Given the description of an element on the screen output the (x, y) to click on. 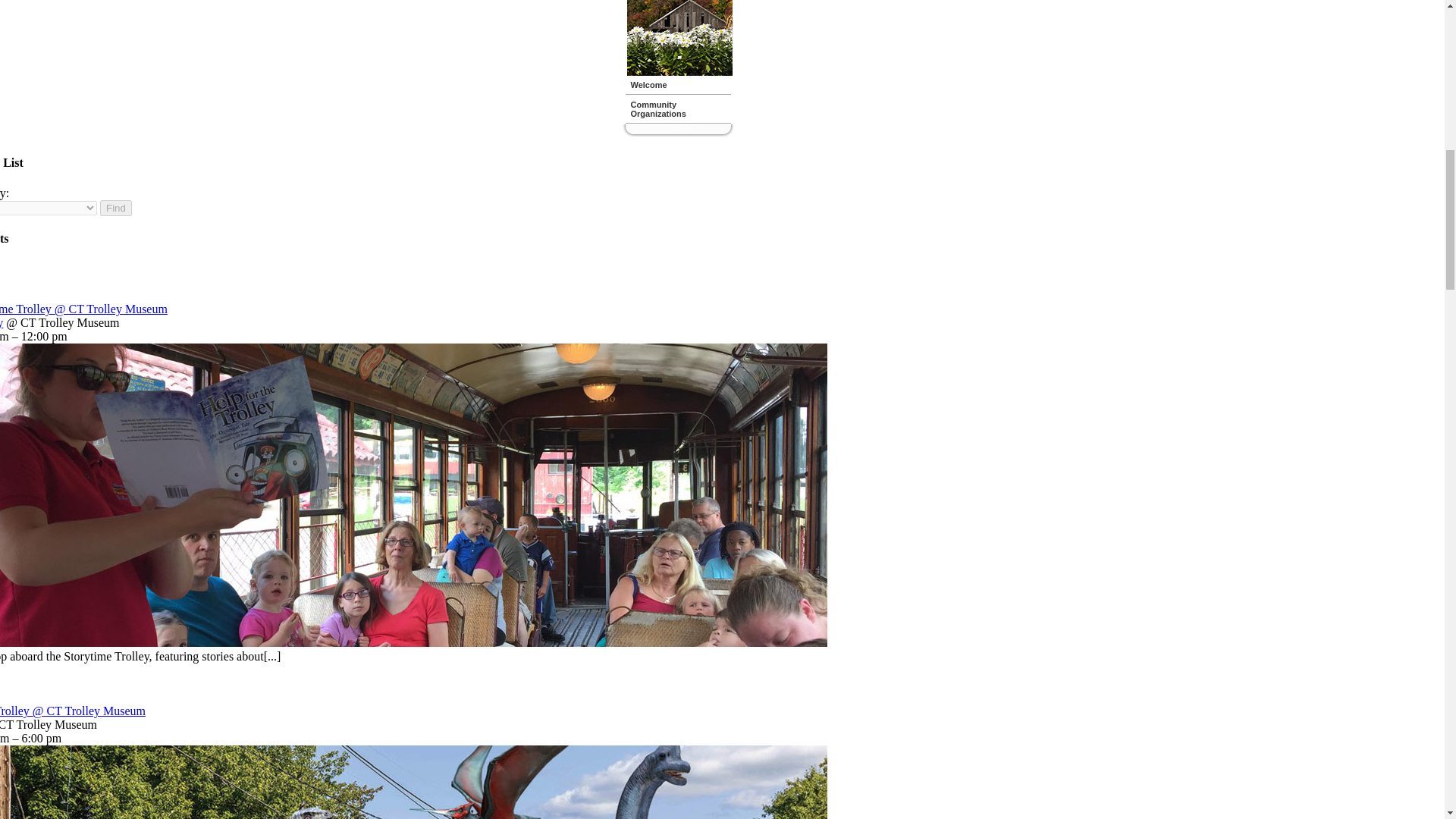
Community Organizations (677, 109)
Find (116, 207)
Find (116, 207)
Welcome (677, 85)
